Given the description of an element on the screen output the (x, y) to click on. 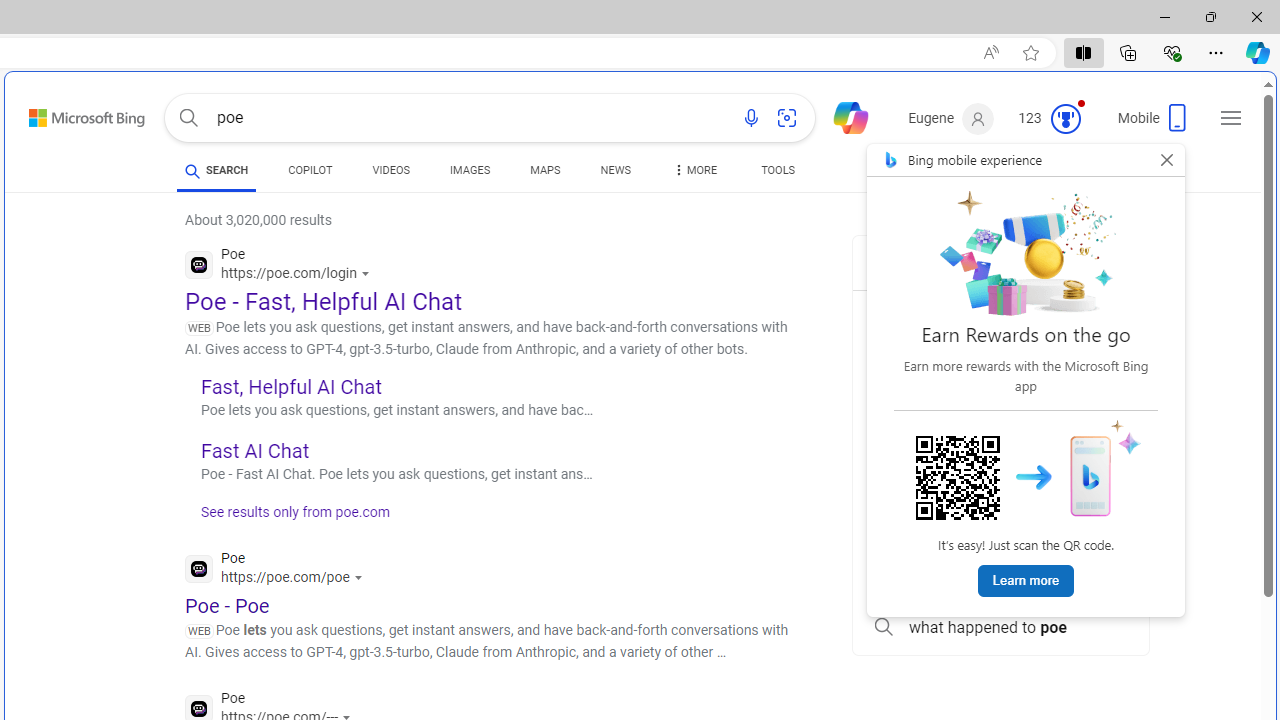
SEARCH (216, 170)
Poe - Fast, Helpful AI Chat (323, 301)
poe chat (1000, 402)
MAPS (545, 170)
Learn more about Microsoft Bing app (1025, 581)
Fast AI Chat (254, 449)
Dropdown Menu (693, 170)
VIDEOS (390, 170)
Fast, Helpful AI Chat (290, 385)
what happened to poe (1000, 628)
